Given the description of an element on the screen output the (x, y) to click on. 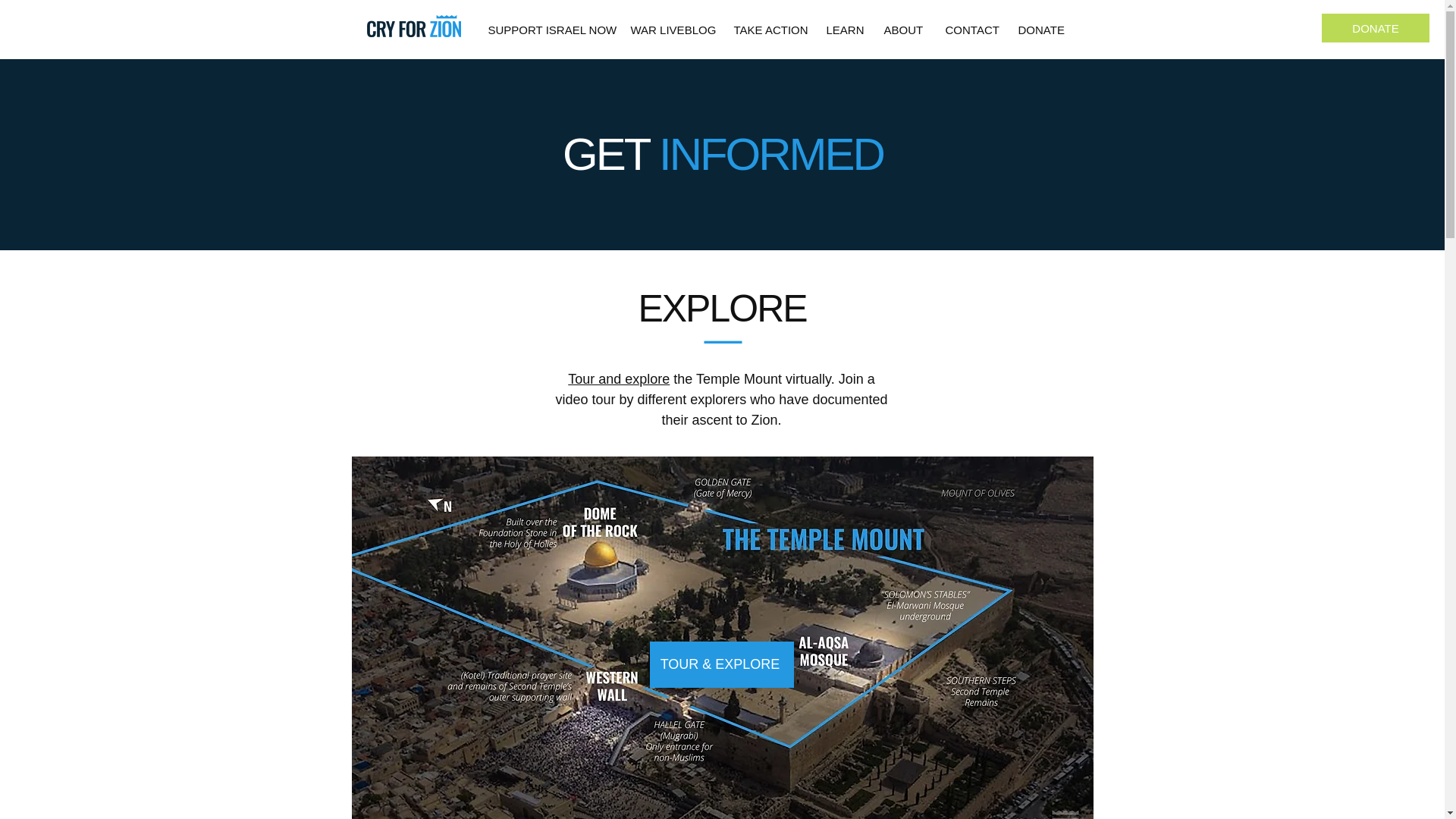
LEARN (842, 29)
CONTACT (970, 29)
WAR LIVEBLOG (670, 29)
ABOUT (902, 29)
SUPPORT ISRAEL NOW (547, 29)
DONATE (1040, 29)
Tour and explore (618, 378)
TAKE ACTION (767, 29)
DONATE (1375, 27)
